Given the description of an element on the screen output the (x, y) to click on. 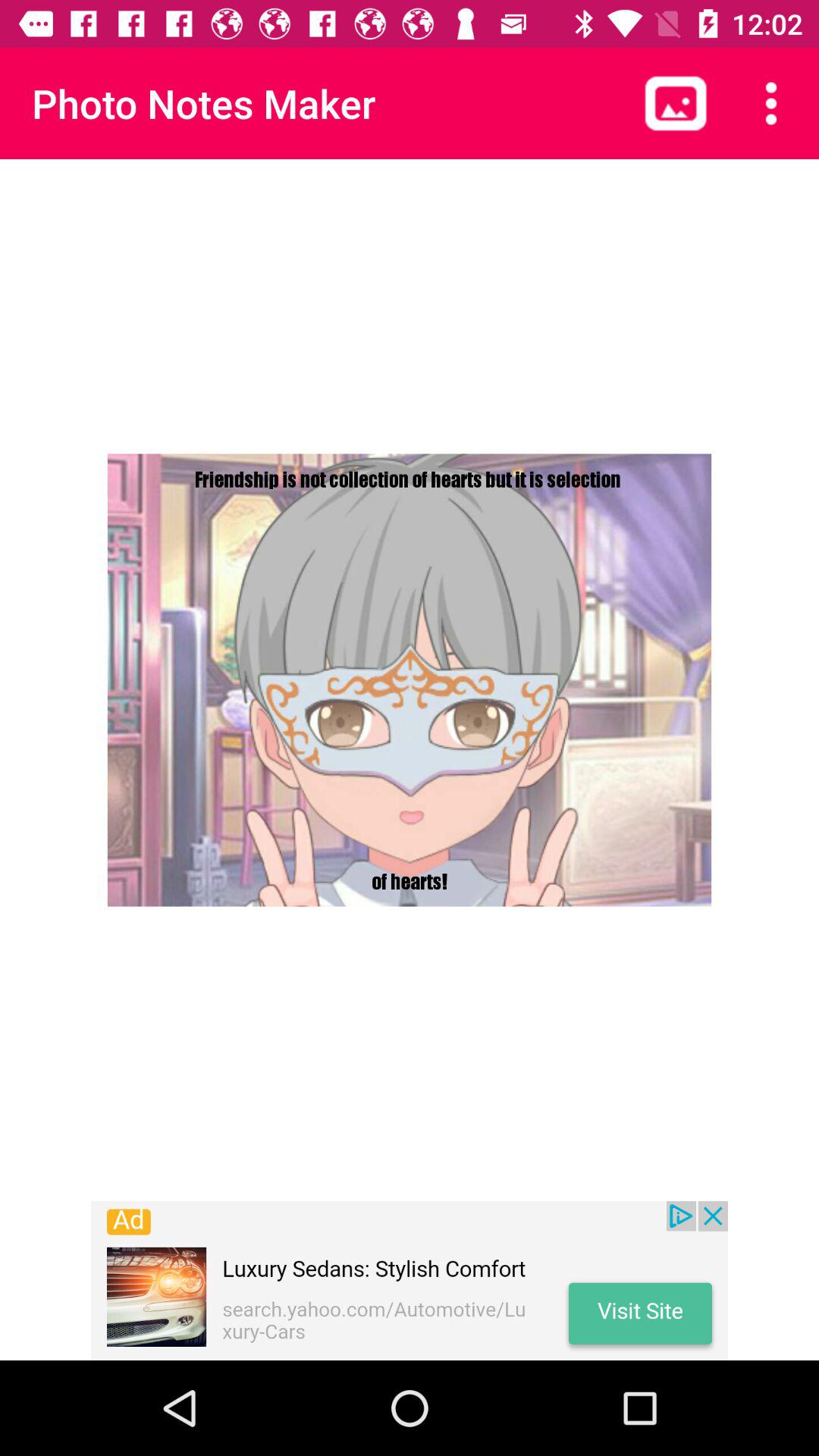
landscape (675, 103)
